Given the description of an element on the screen output the (x, y) to click on. 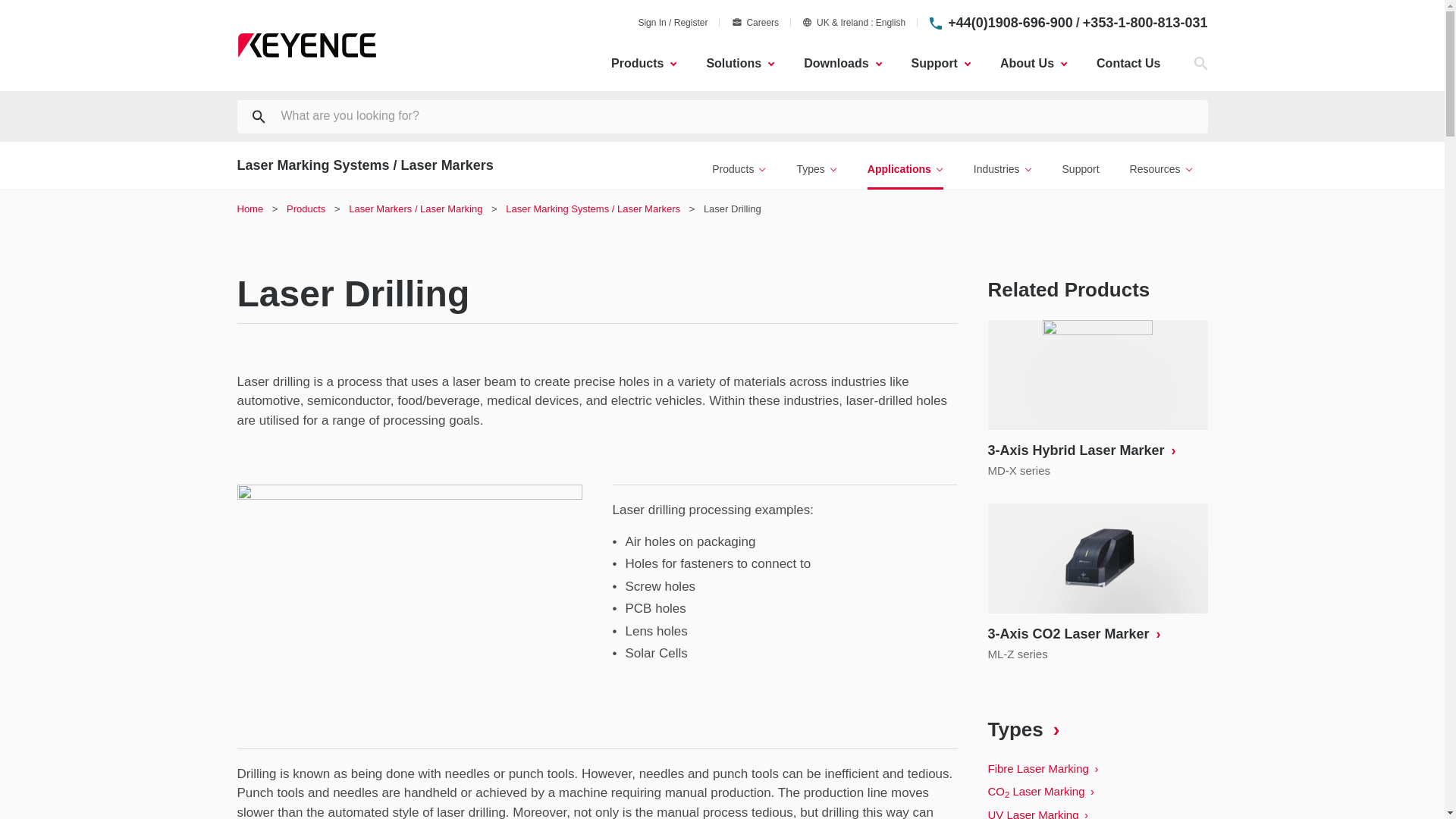
Products (643, 63)
Careers (755, 22)
